Given the description of an element on the screen output the (x, y) to click on. 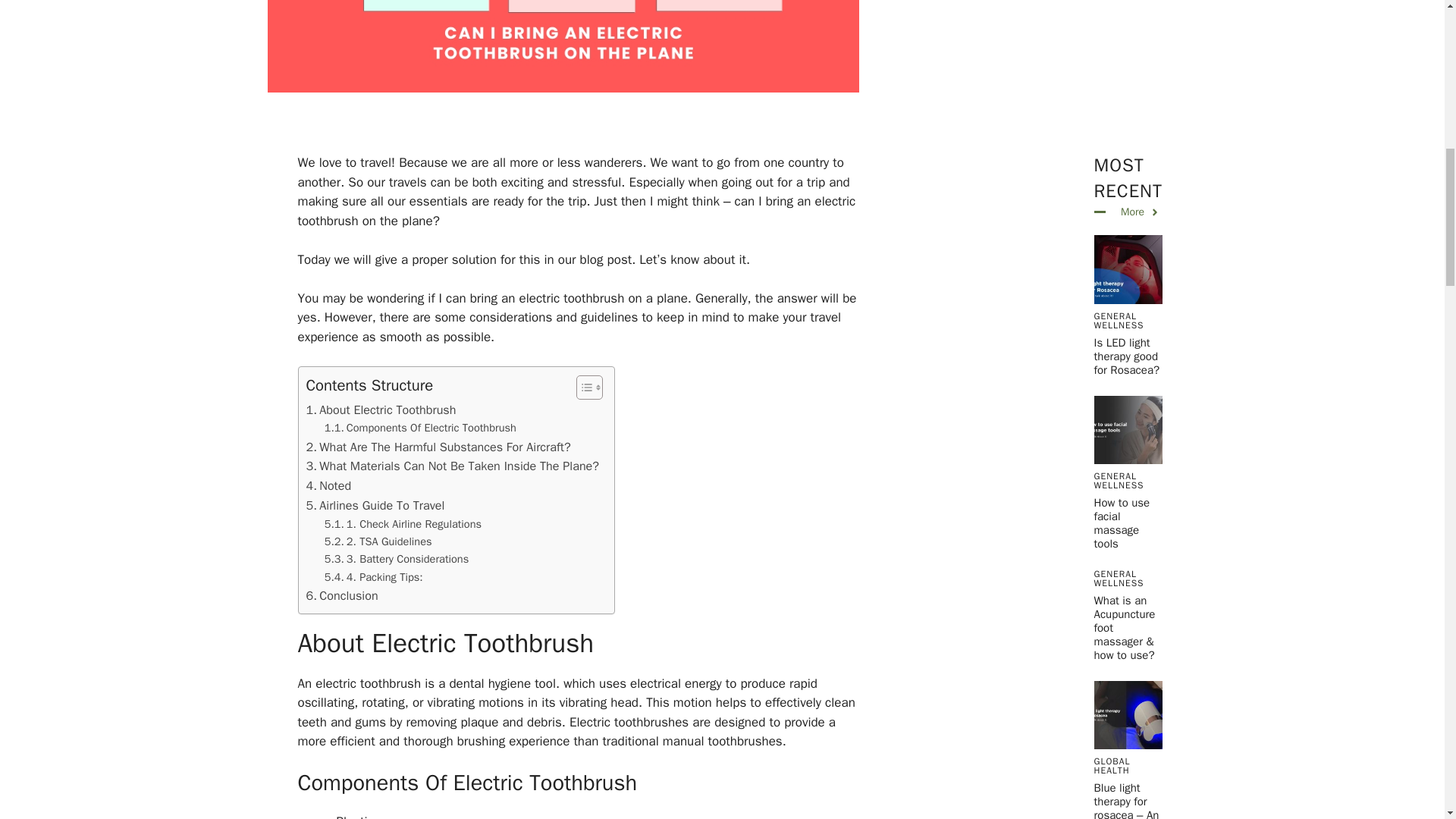
What Materials Can Not Be Taken Inside The Plane? (452, 465)
2. TSA Guidelines (378, 541)
3. Battery Considerations (396, 559)
4. Packing Tips: (373, 577)
2. TSA Guidelines (378, 541)
What Are The Harmful Substances For Aircraft? (437, 447)
More (1140, 211)
What Are The Harmful Substances For Aircraft? (437, 447)
3. Battery Considerations (396, 559)
What Materials Can Not Be Taken Inside The Plane? (452, 465)
Airlines Guide To Travel (375, 505)
Noted (328, 485)
Conclusion (341, 596)
1. Check Airline Regulations (402, 524)
About Electric Toothbrush (381, 410)
